Given the description of an element on the screen output the (x, y) to click on. 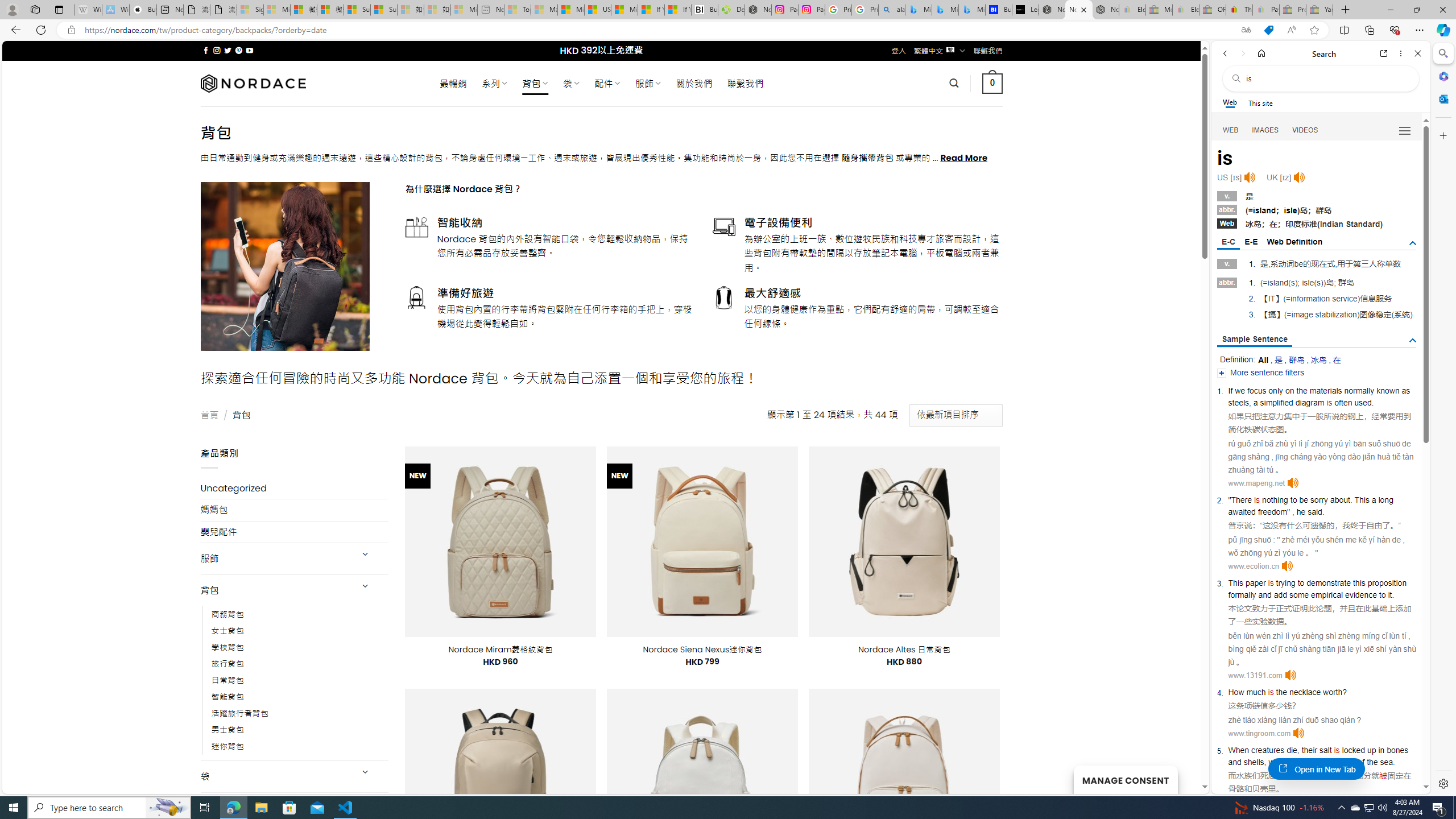
focus (1256, 390)
which (1279, 761)
to (1300, 582)
Payments Terms of Use | eBay.com - Sleeping (1265, 9)
This (1235, 582)
